Given the description of an element on the screen output the (x, y) to click on. 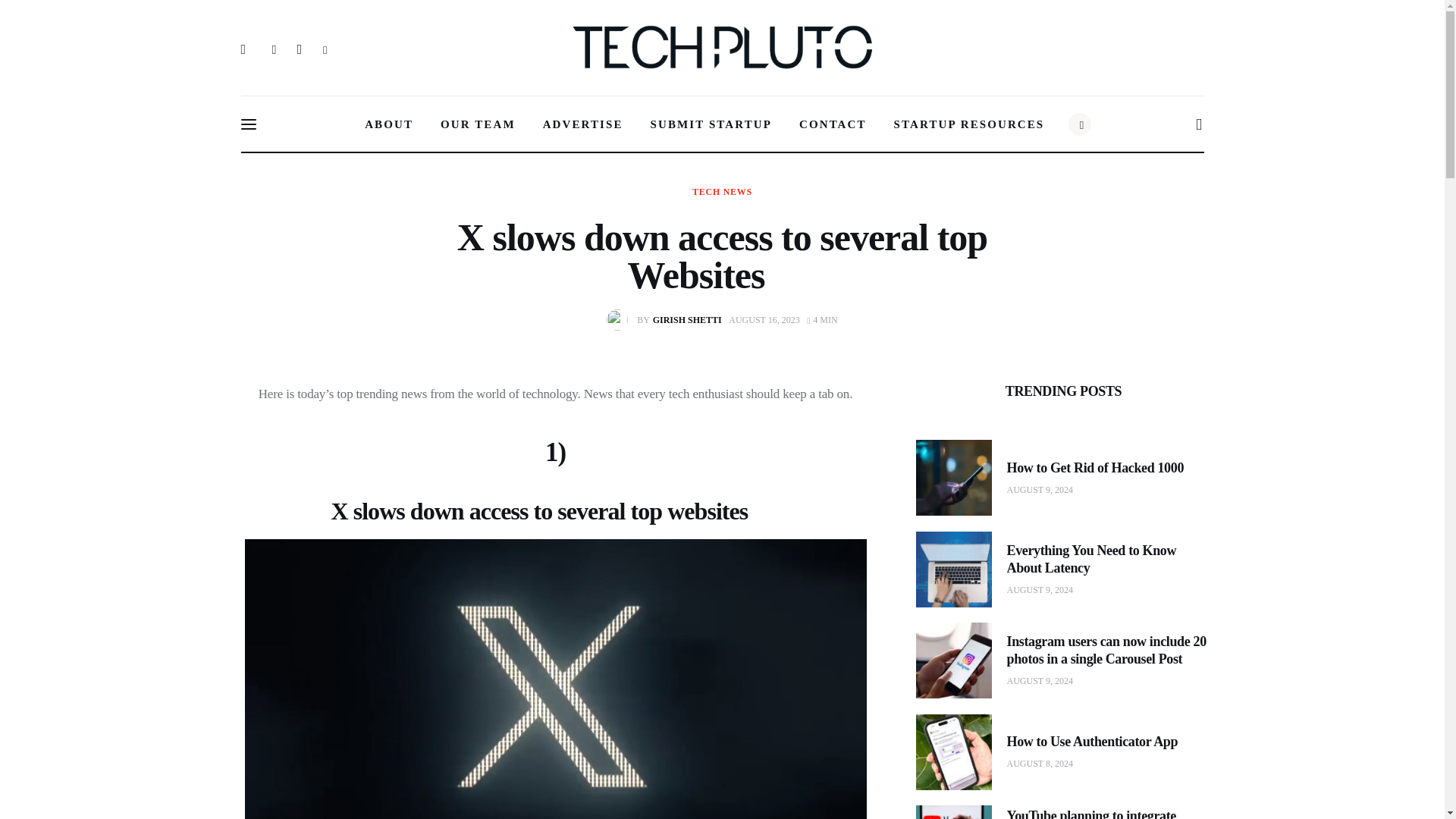
ADVERTISE (583, 124)
STARTUP RESOURCES (969, 124)
ABOUT (388, 124)
TECH NEWS (668, 319)
CONTACT (722, 191)
SUBMIT STARTUP (833, 124)
4 MIN (711, 124)
OUR TEAM (821, 319)
